Given the description of an element on the screen output the (x, y) to click on. 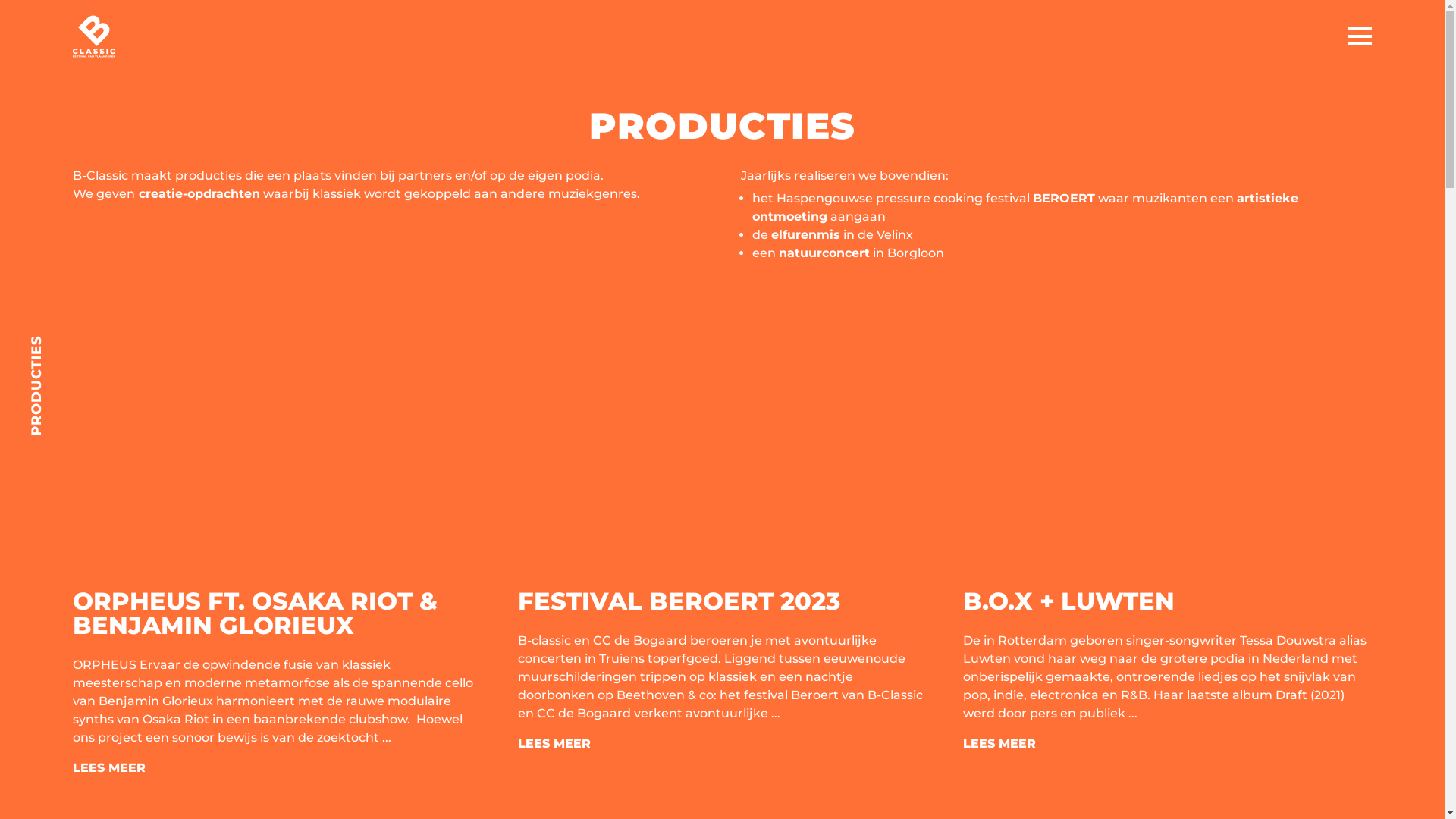
LEES MEER Element type: text (553, 743)
ORPHEUS FT. OSAKA RIOT & BENJAMIN GLORIEUX Element type: text (254, 613)
FESTIVAL BEROERT 2023 Element type: text (678, 600)
LEES MEER Element type: text (999, 743)
B.O.X + LUWTEN Element type: text (1068, 600)
LEES MEER Element type: text (108, 767)
